Given the description of an element on the screen output the (x, y) to click on. 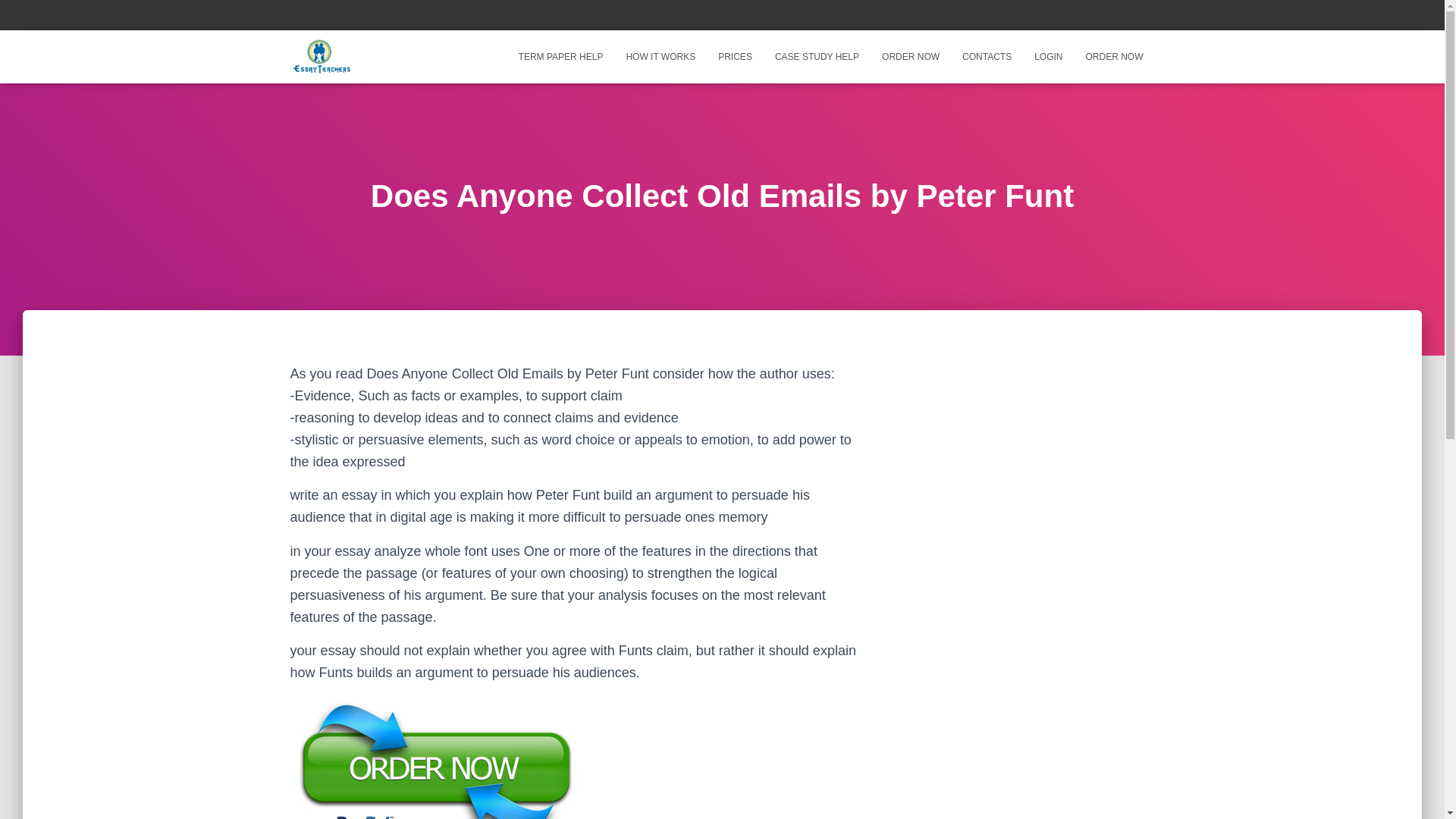
Contacts (986, 56)
Essay Teachers (320, 56)
HOW IT WORKS (660, 56)
LOGIN (1048, 56)
CONTACTS (986, 56)
ORDER NOW (1114, 56)
Login (1048, 56)
TERM PAPER HELP (560, 56)
Prices (734, 56)
Order Now (910, 56)
